Given the description of an element on the screen output the (x, y) to click on. 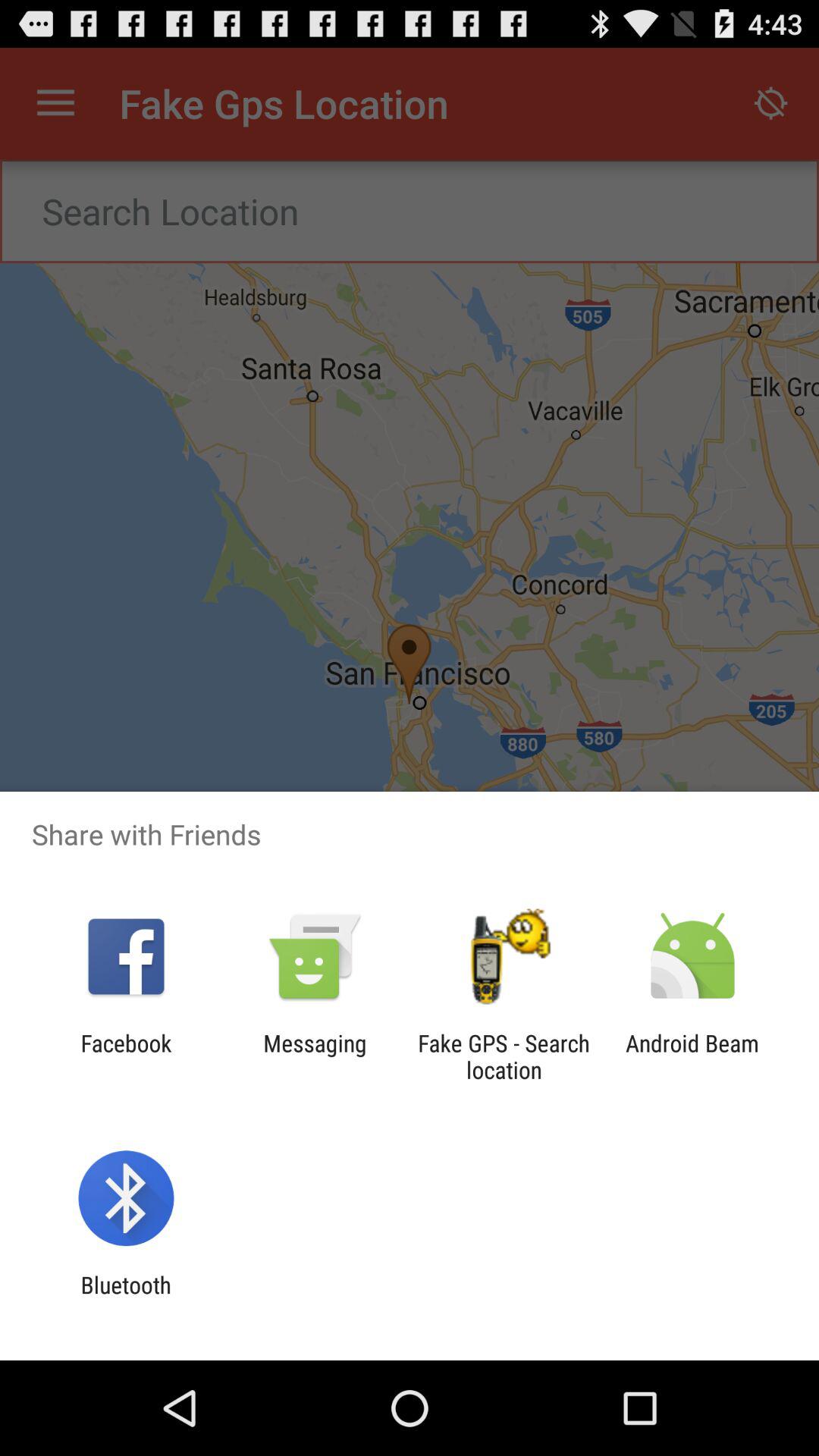
tap app next to the android beam app (503, 1056)
